Given the description of an element on the screen output the (x, y) to click on. 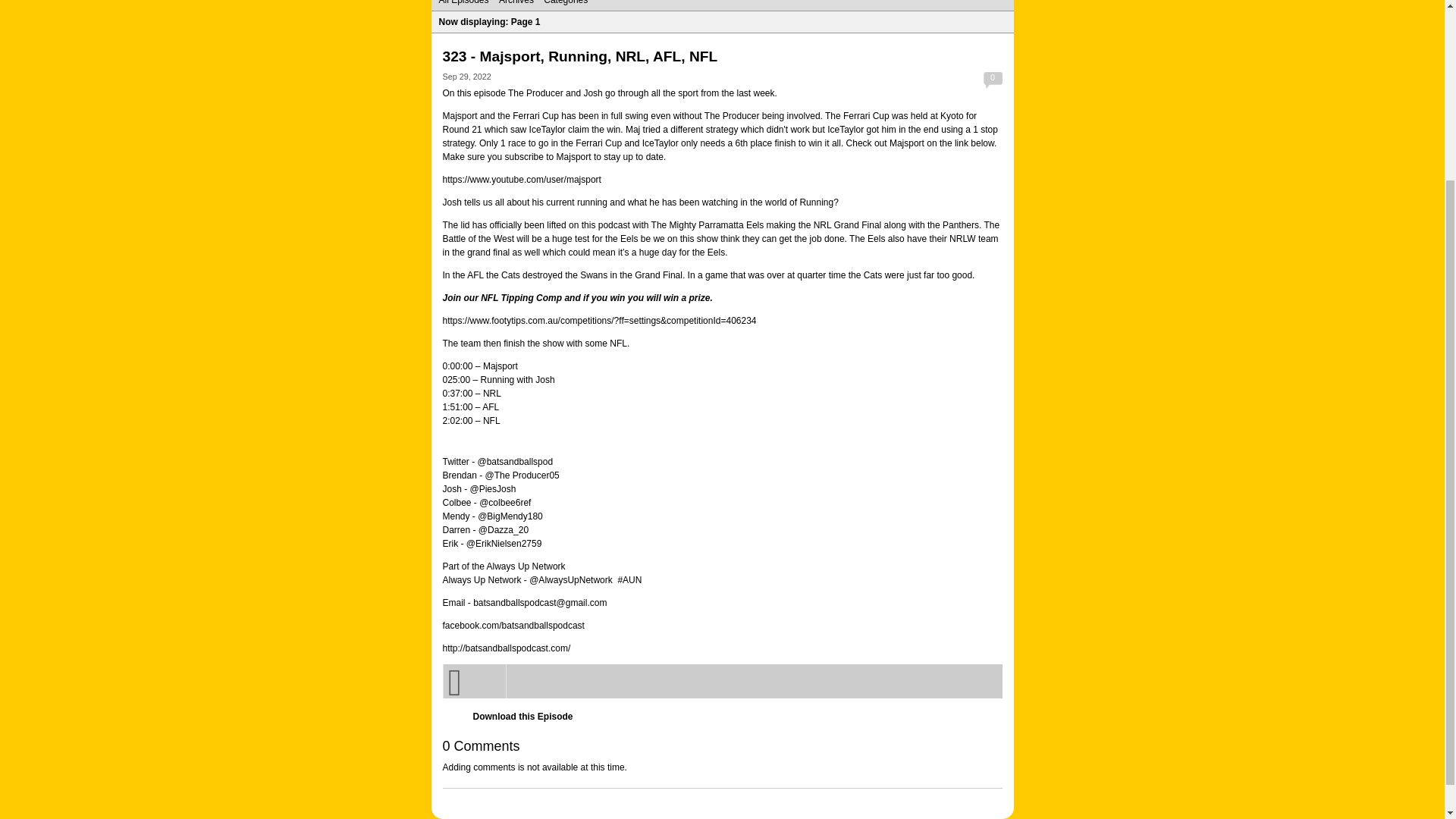
Libsyn Player (722, 681)
